Given the description of an element on the screen output the (x, y) to click on. 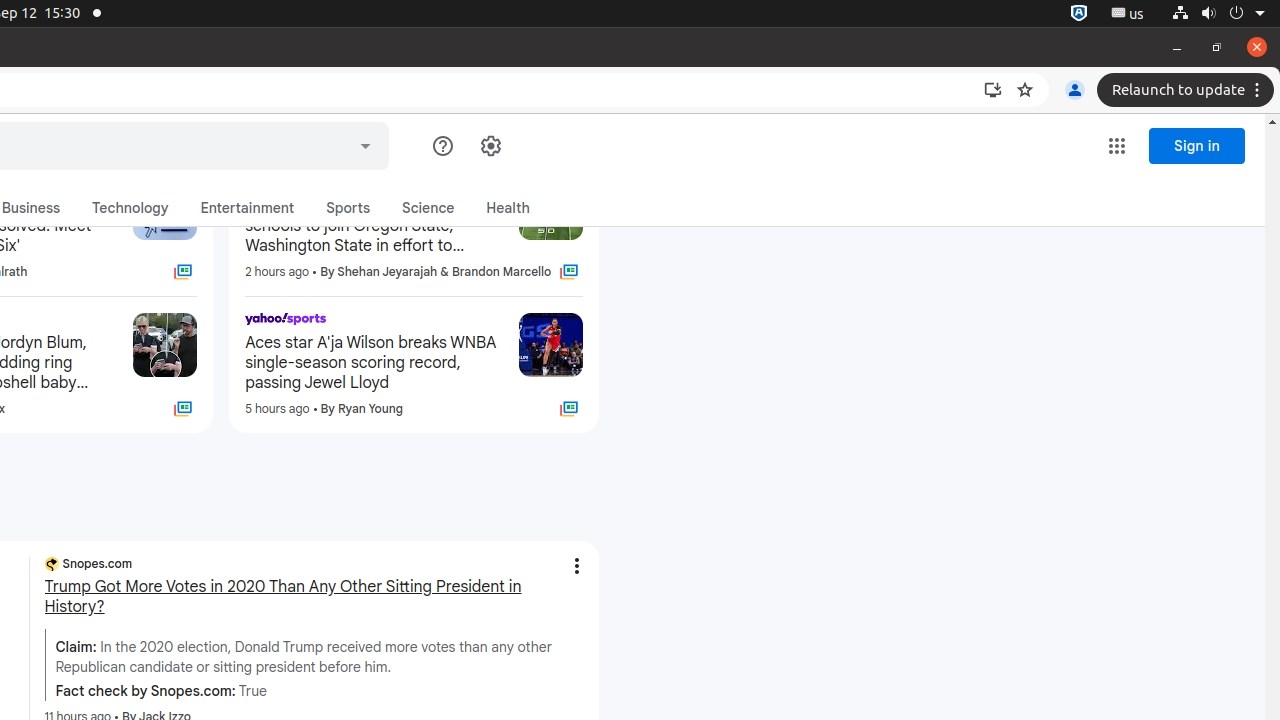
:1.72/StatusNotifierItem Element type: menu (1079, 13)
Relaunch to update Element type: push-button (1188, 90)
Health Element type: menu-item (508, 208)
More - Trump Got More Votes in 2020 Than Any Other Sitting President in History? Element type: push-button (576, 566)
